Given the description of an element on the screen output the (x, y) to click on. 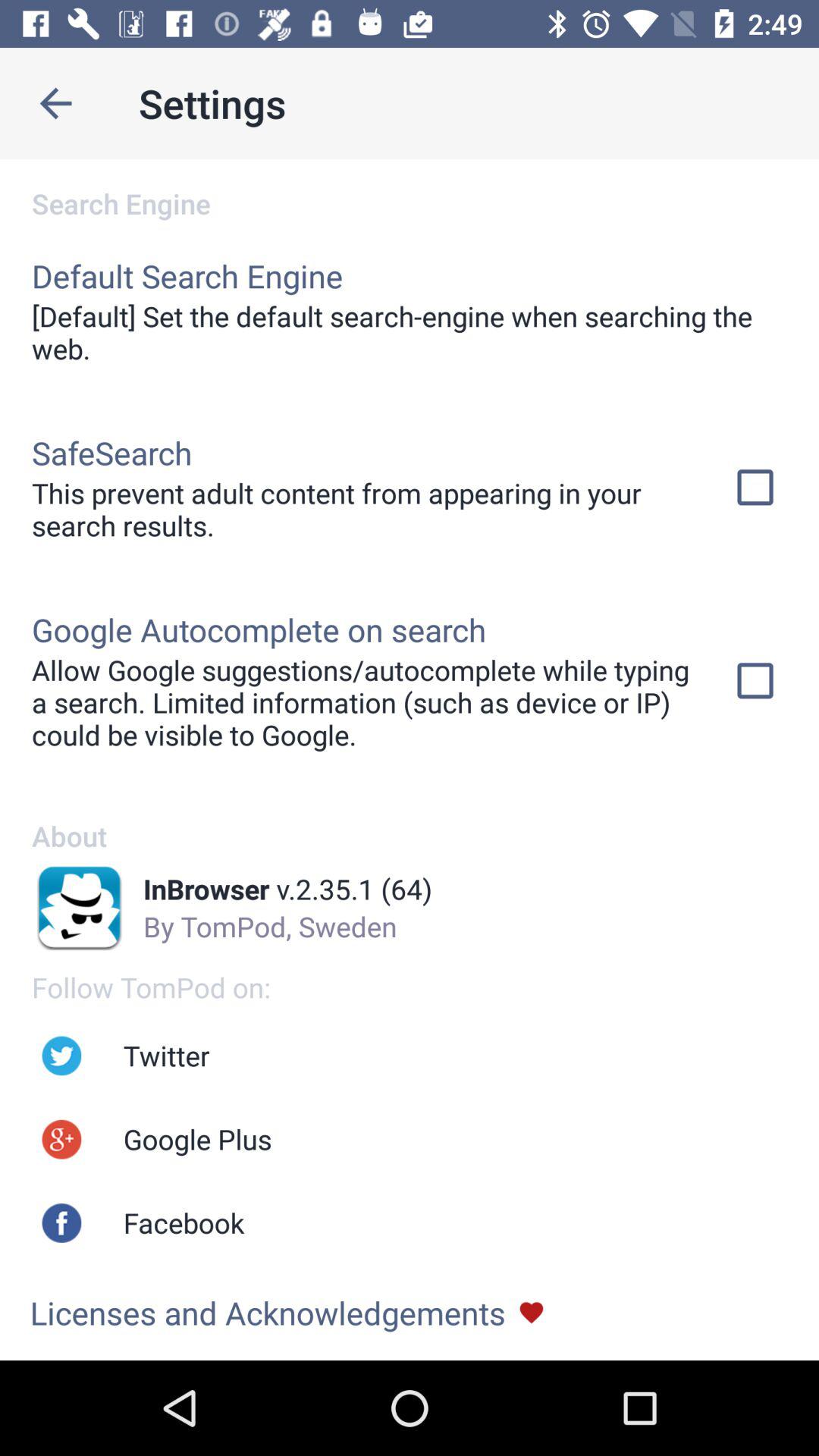
press the item above the search engine icon (55, 103)
